Given the description of an element on the screen output the (x, y) to click on. 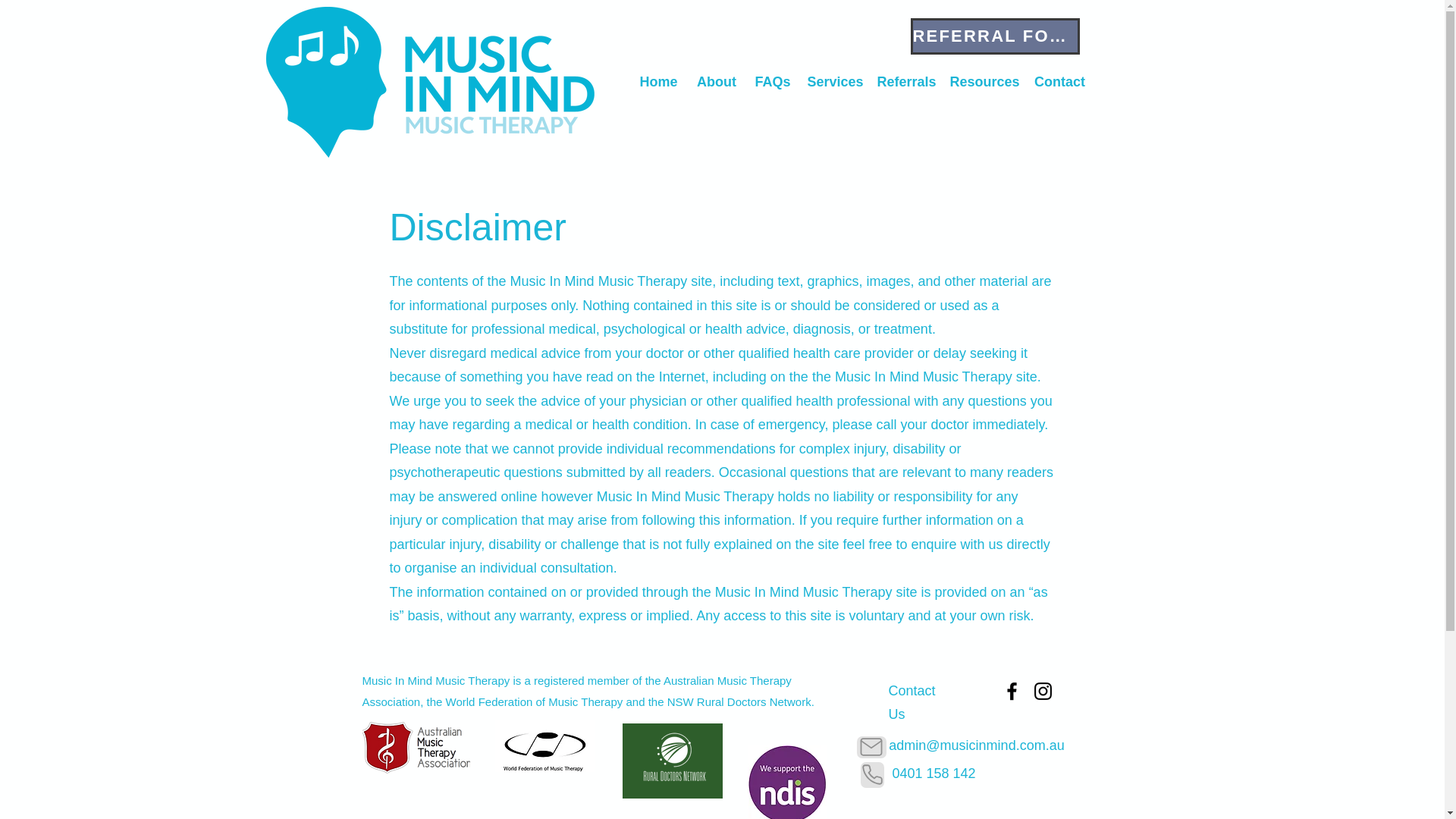
REFERRAL FORM (994, 36)
Home (657, 81)
FAQs (772, 81)
Resources (983, 81)
Referrals (905, 81)
About (716, 81)
Services (834, 81)
Contact Us (912, 701)
Vertical Logo Aqua.png (429, 82)
0401 158 142 (933, 773)
